Given the description of an element on the screen output the (x, y) to click on. 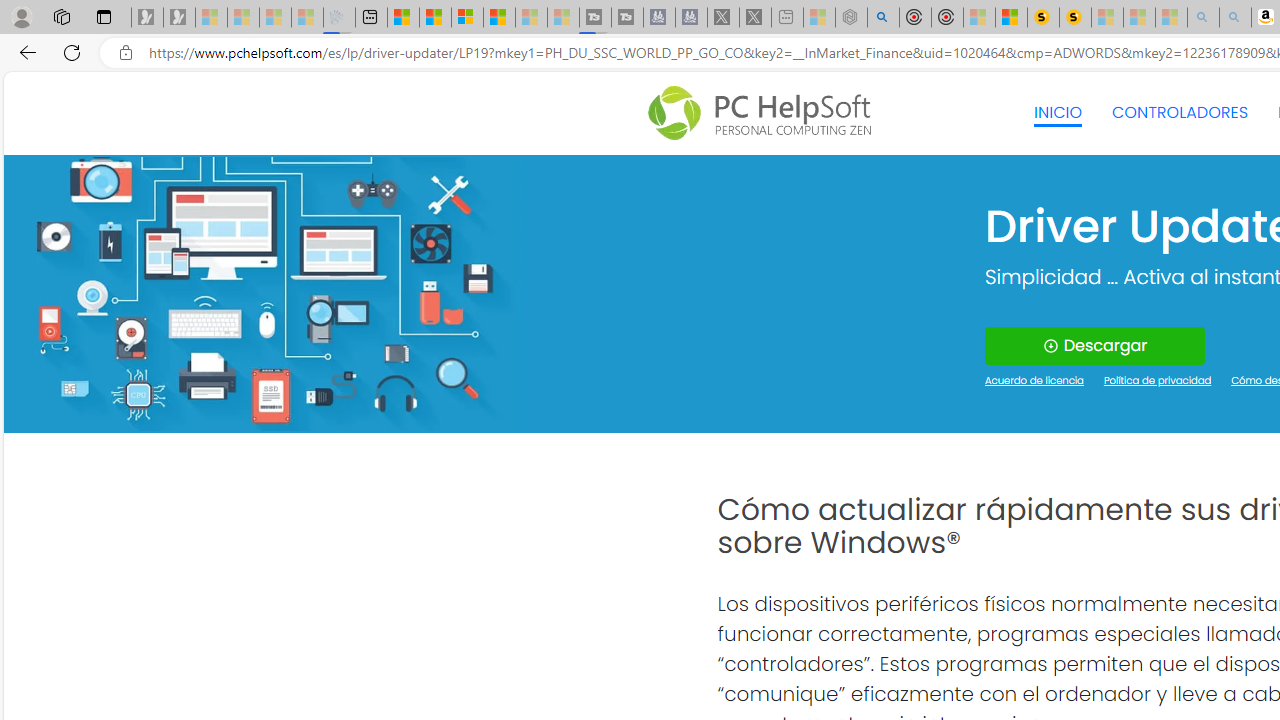
CONTROLADORES (1180, 112)
INICIO (1057, 112)
poe - Search (882, 17)
Download Icon (1049, 345)
INICIO (1057, 112)
Logo Personal Computing (765, 113)
Streaming Coverage | T3 - Sleeping (594, 17)
amazon - Search - Sleeping (1202, 17)
